Given the description of an element on the screen output the (x, y) to click on. 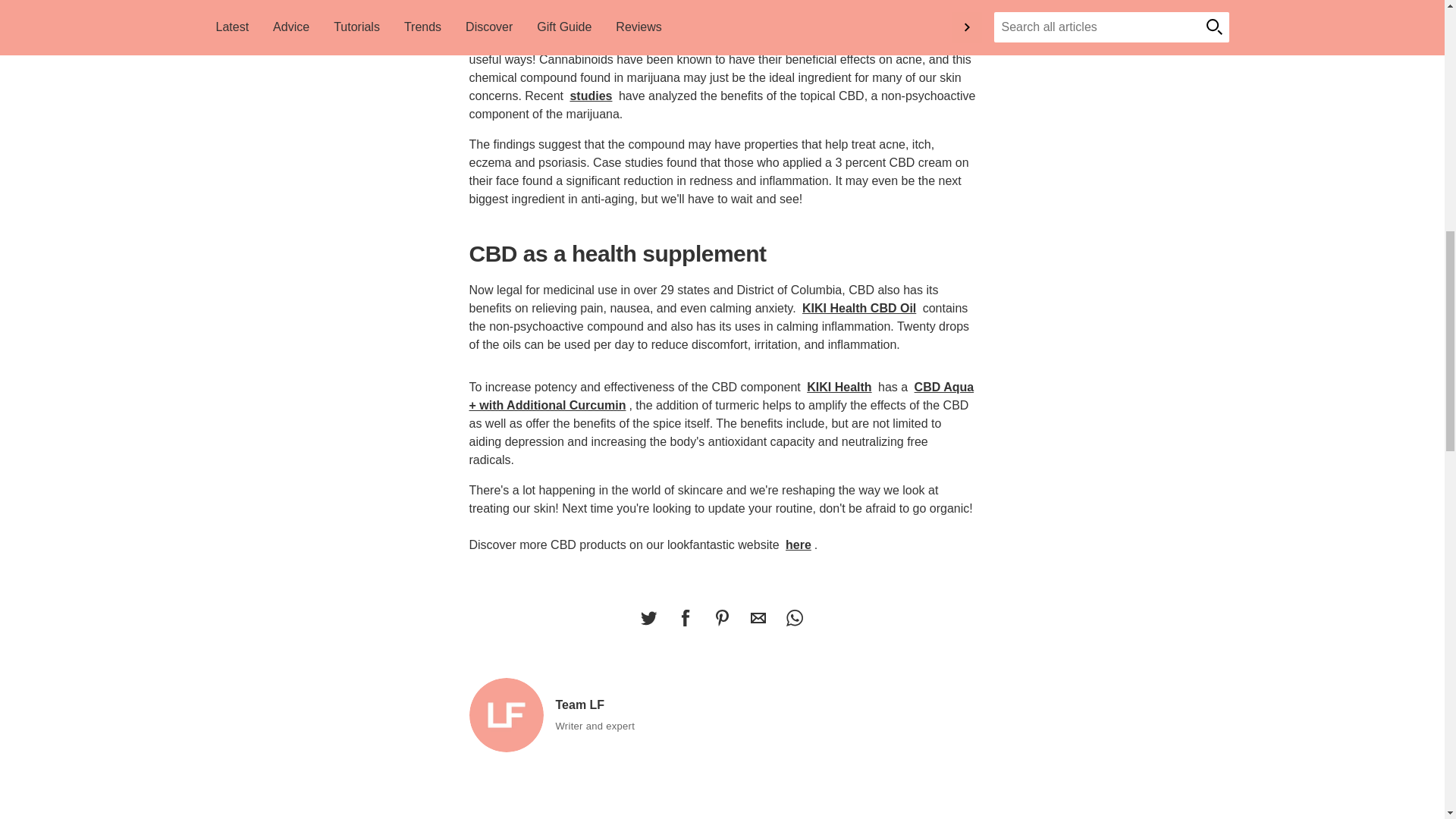
Share this on Pinterest (721, 617)
Share this on WhatsApp (793, 617)
Team LF (505, 715)
Share this on Twitter (648, 617)
Share this by Email (757, 617)
Share this on Facebook (684, 617)
